Given the description of an element on the screen output the (x, y) to click on. 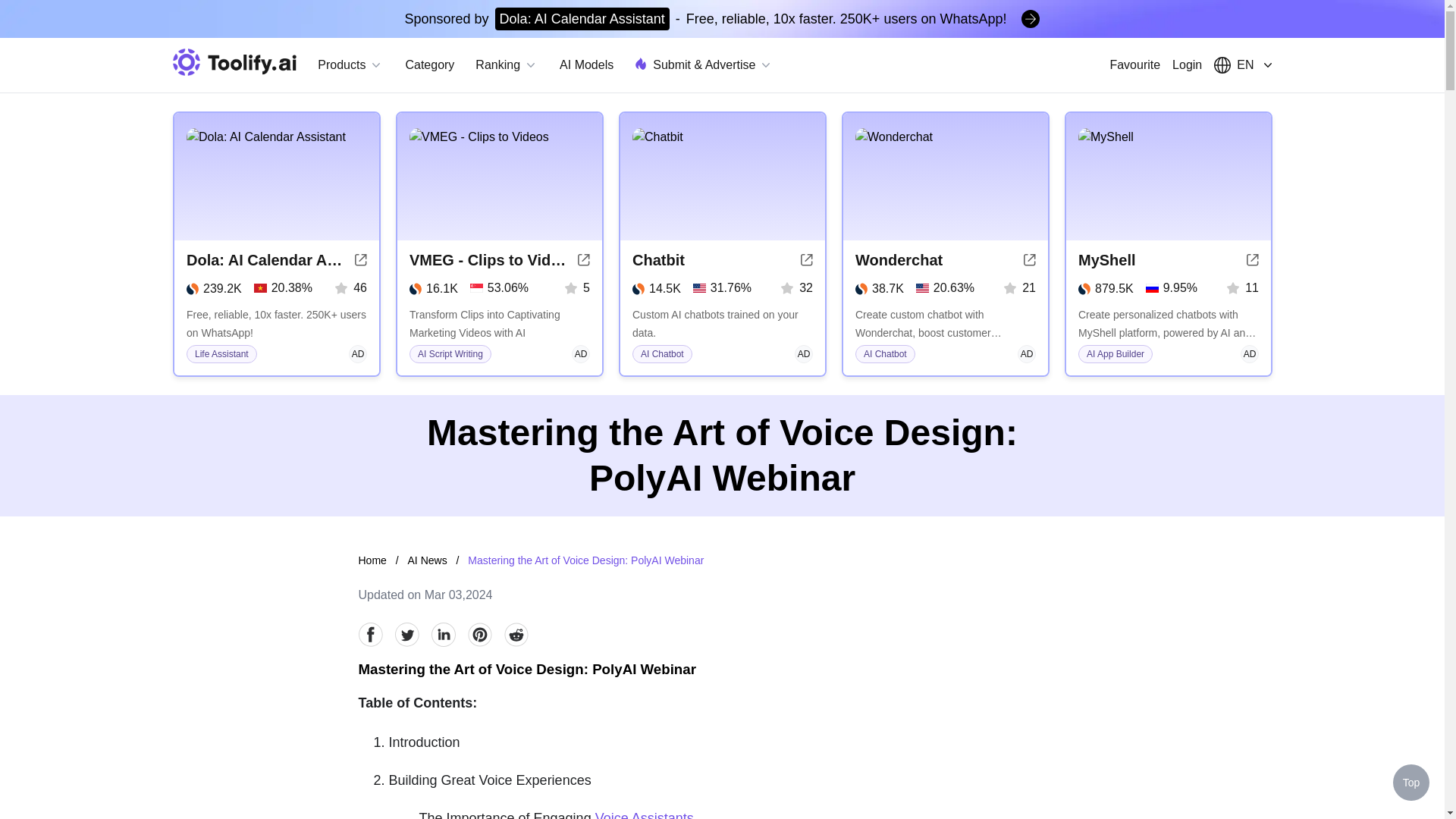
Advanced AI-powered photo editing software. (945, 323)
Favourite (1134, 64)
Monthly Visits (213, 289)
Wonderchat (899, 260)
Toolify (235, 62)
Advanced AI-powered photo editing software. (276, 323)
MyShell (1106, 260)
Products (350, 64)
Monthly Visits (880, 289)
Monthly Visits (656, 289)
